Given the description of an element on the screen output the (x, y) to click on. 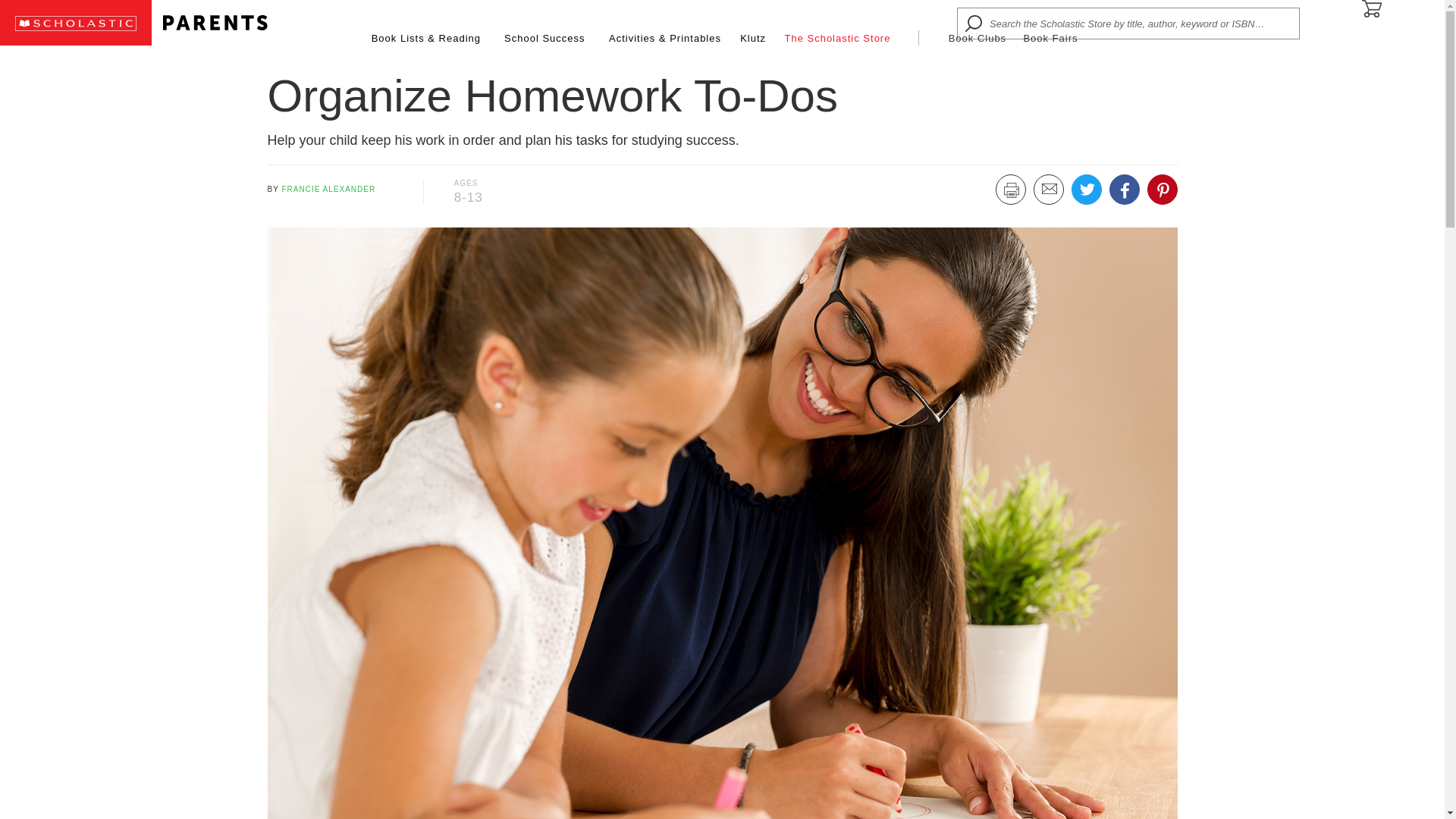
School Success (544, 38)
Klutz (752, 38)
The Scholastic Store (836, 38)
